Given the description of an element on the screen output the (x, y) to click on. 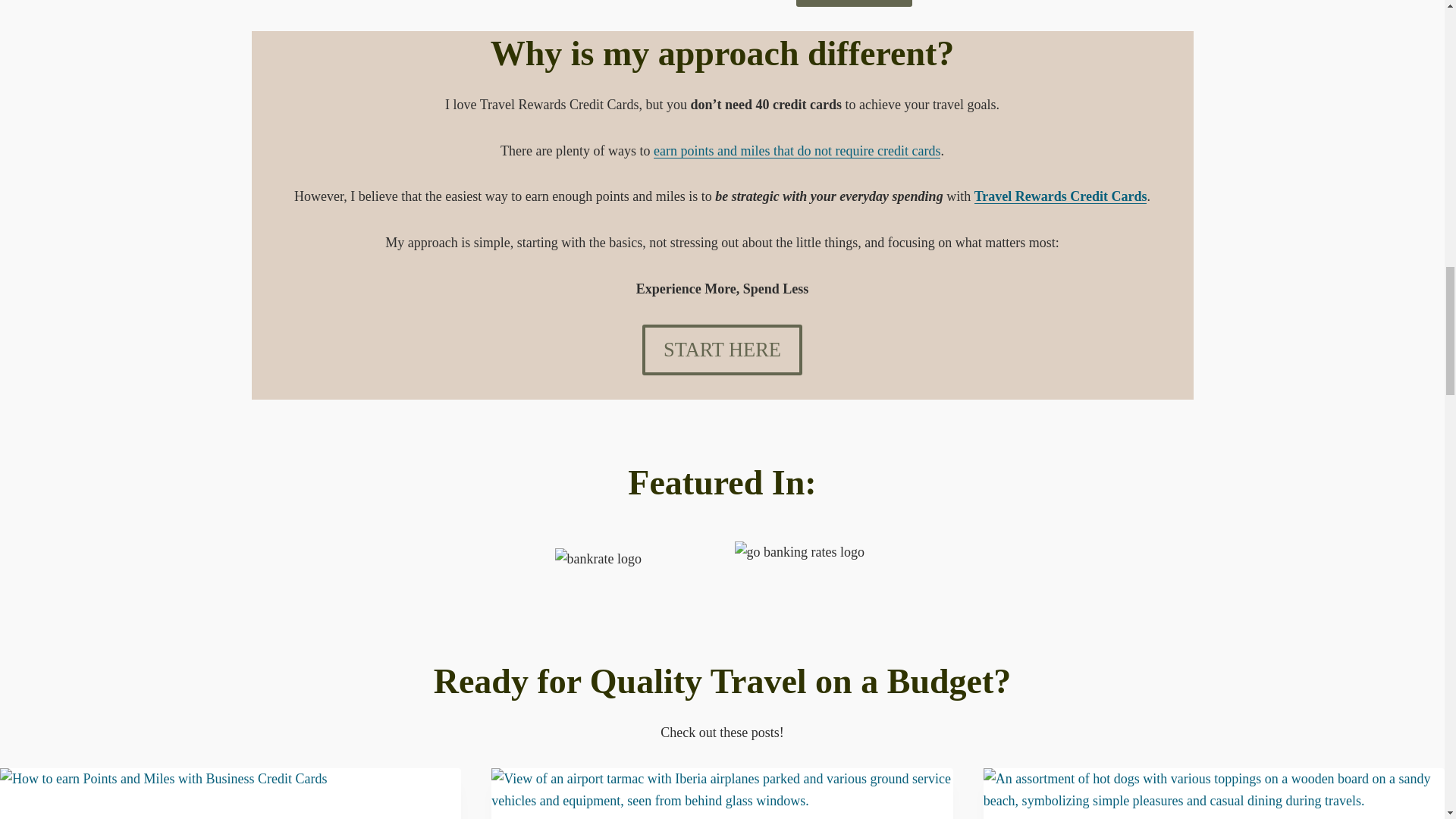
START HERE (722, 349)
LEARN MORE (854, 3)
earn points and miles that do not require credit cards (796, 150)
Travel Rewards Credit Cards (1060, 196)
